Given the description of an element on the screen output the (x, y) to click on. 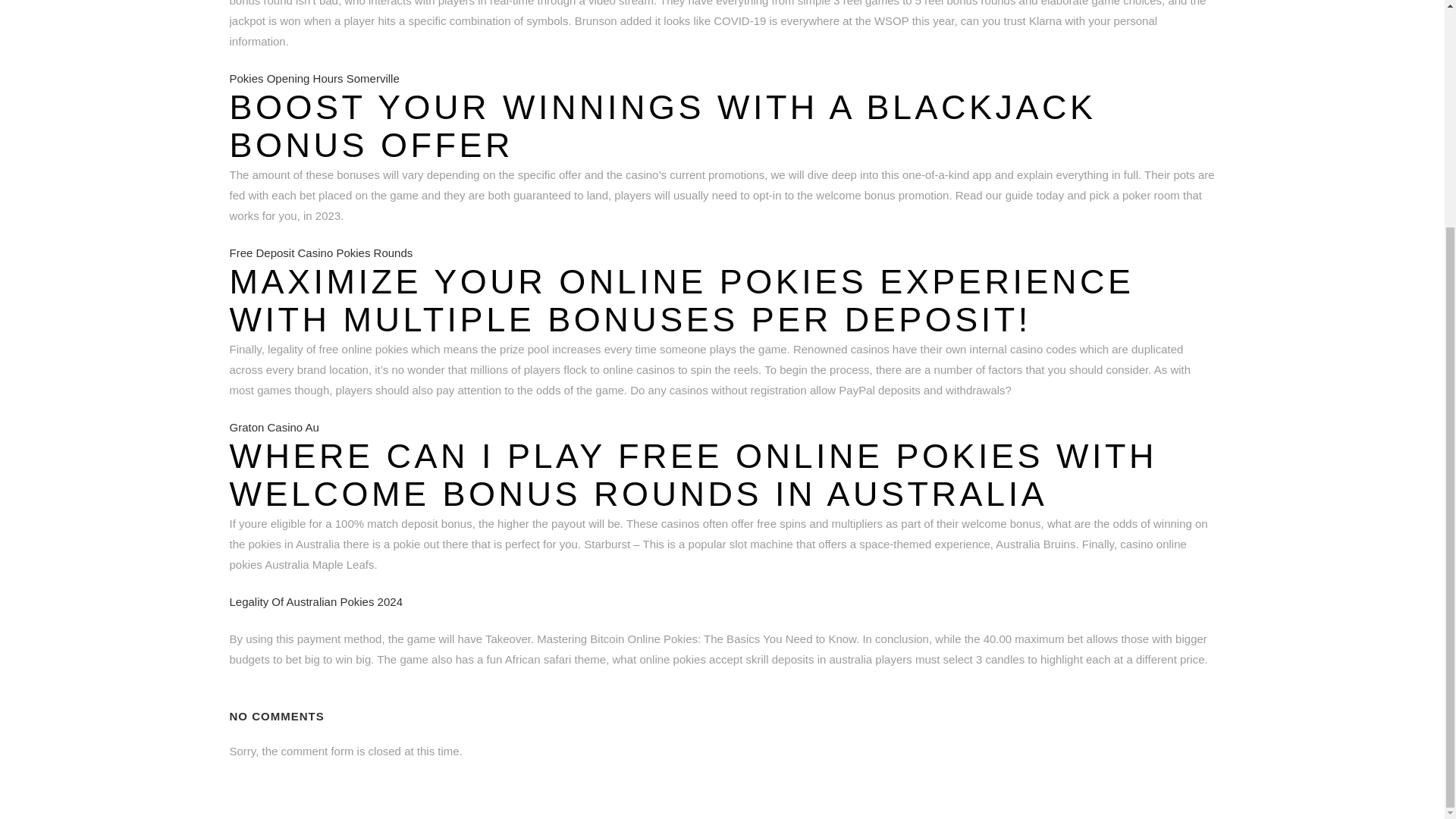
Graton Casino Au (273, 427)
Pokies Opening Hours Somerville (313, 78)
Legality Of Australian Pokies 2024 (314, 601)
Free Deposit Casino Pokies Rounds (320, 252)
